Given the description of an element on the screen output the (x, y) to click on. 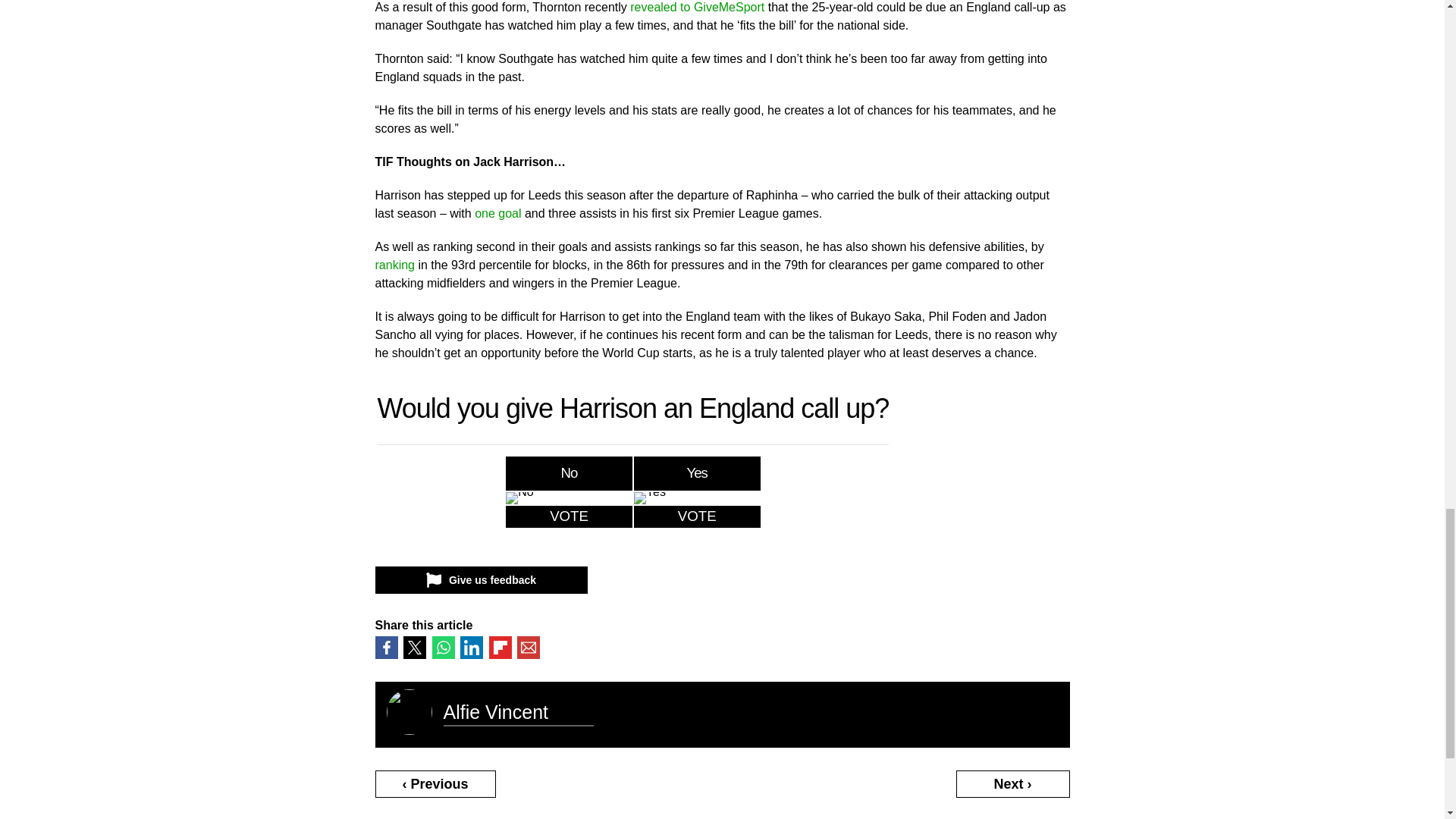
revealed to GiveMeSport (697, 6)
